Given the description of an element on the screen output the (x, y) to click on. 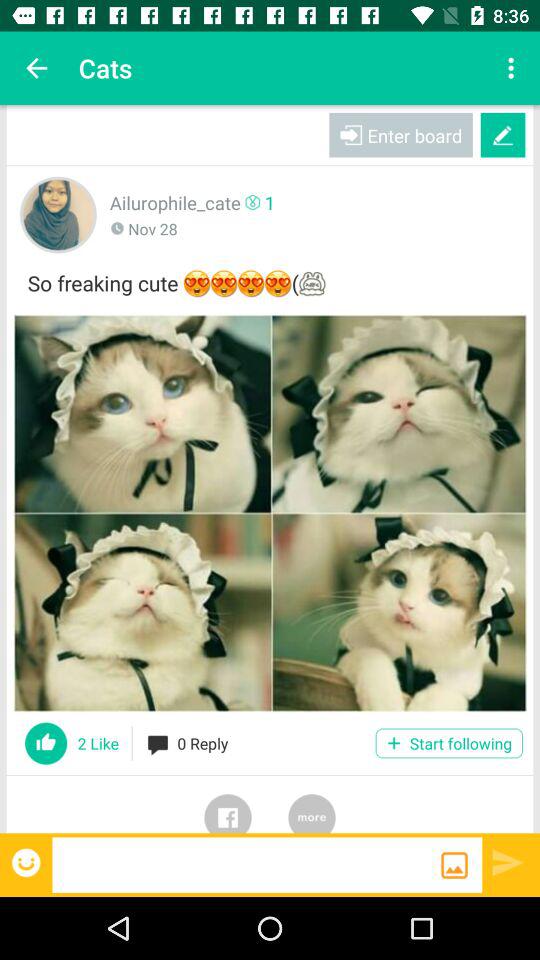
jump to the start following icon (448, 743)
